Given the description of an element on the screen output the (x, y) to click on. 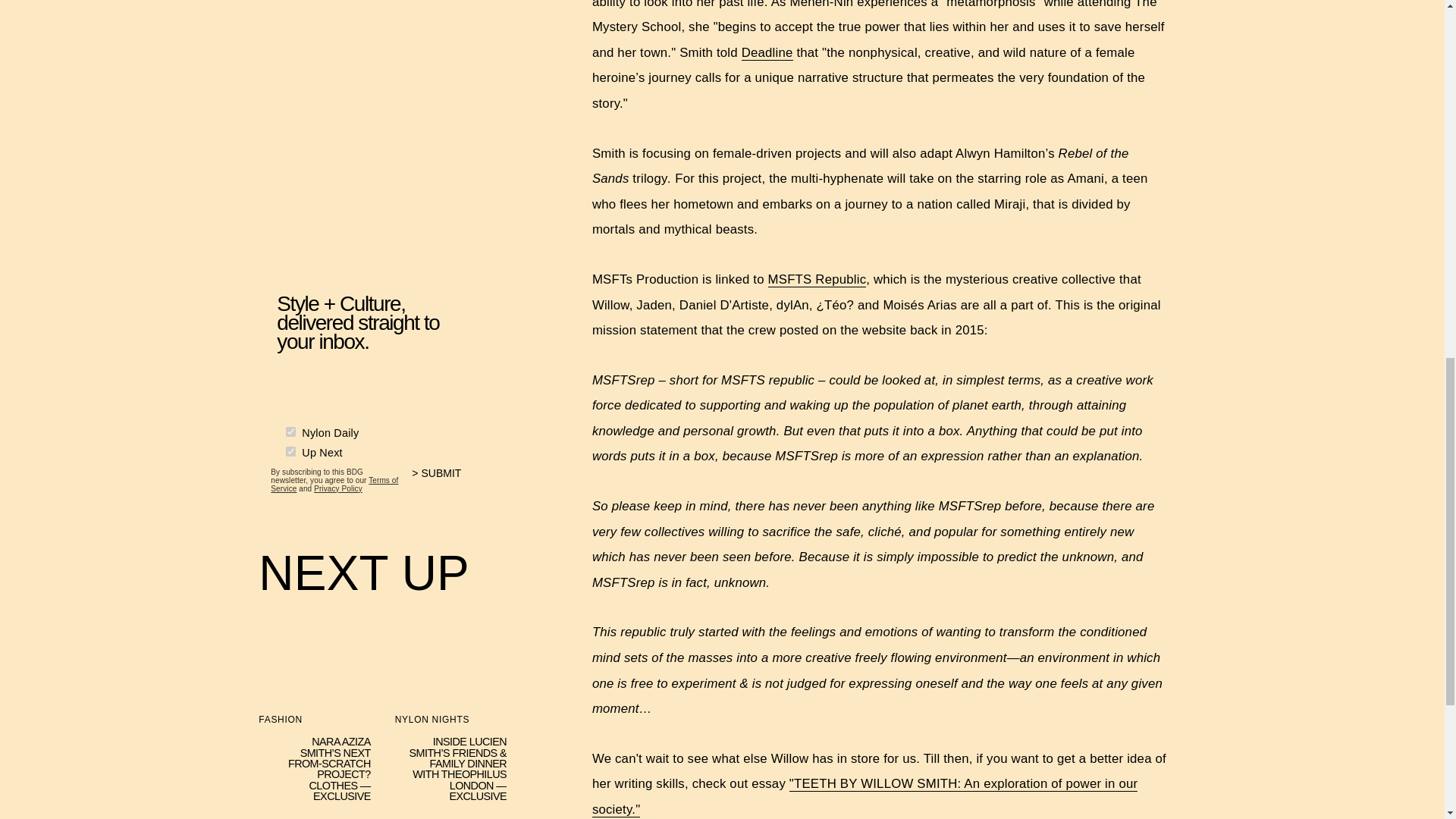
HERE'S YOUR HOROSCOPE FOR TUESDAY, AUGUST 20 (450, 816)
SUBMIT (443, 481)
Deadline (767, 52)
'THE CROWN' CREATOR JUST HINTED AT A POSSIBLE PREQUEL SERIES (314, 816)
Privacy Policy (338, 488)
Terms of Service (333, 483)
MSFTS Republic (817, 279)
